Given the description of an element on the screen output the (x, y) to click on. 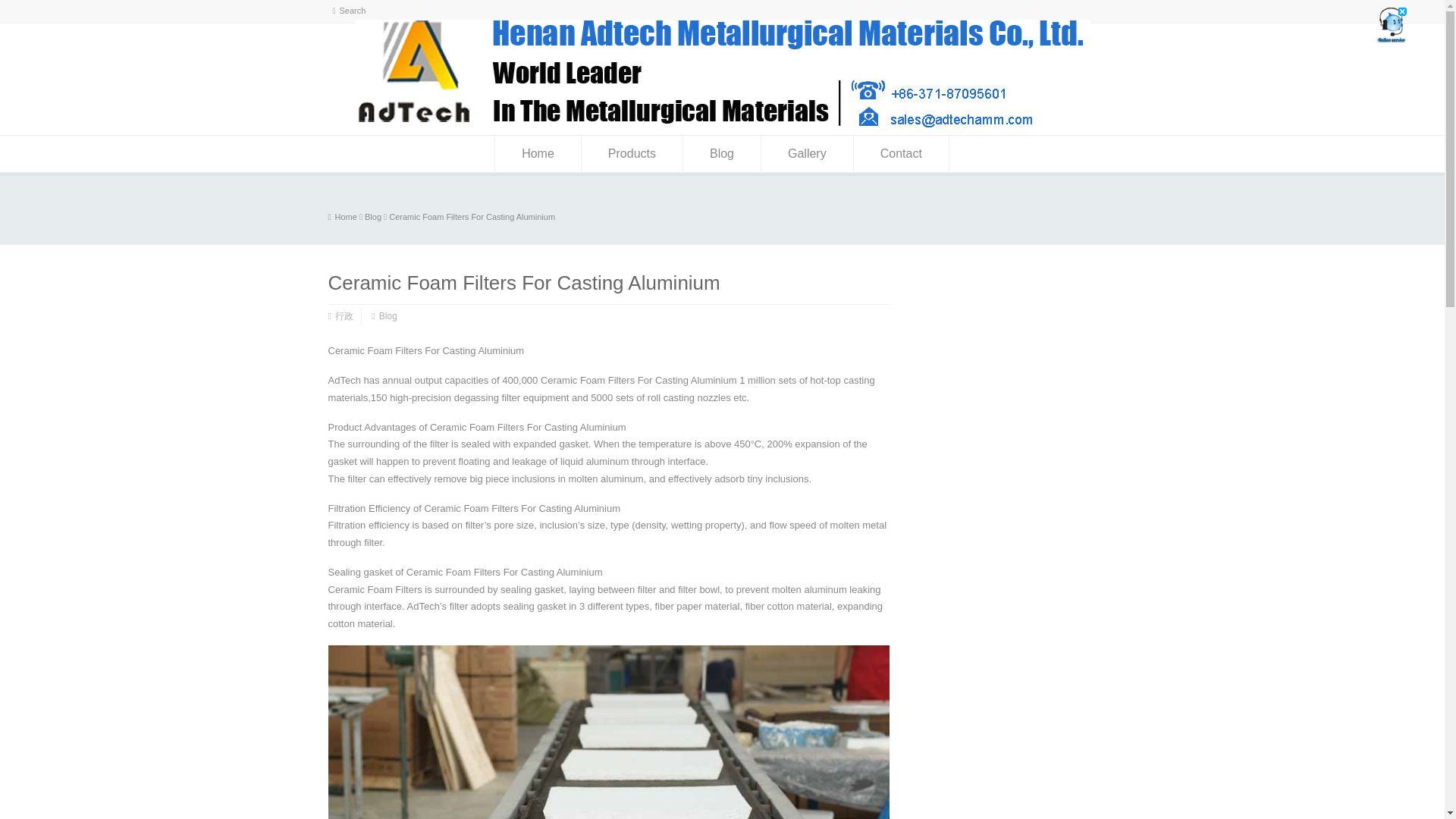
Home (537, 153)
Blog (387, 316)
Ceramic Foam Filters For Casting Aluminium (471, 216)
View all posts in Blog (373, 216)
Gallery (807, 153)
Aluminum casting filter (722, 129)
Products (631, 153)
Home (341, 216)
Blog (721, 153)
Blog (373, 216)
